Given the description of an element on the screen output the (x, y) to click on. 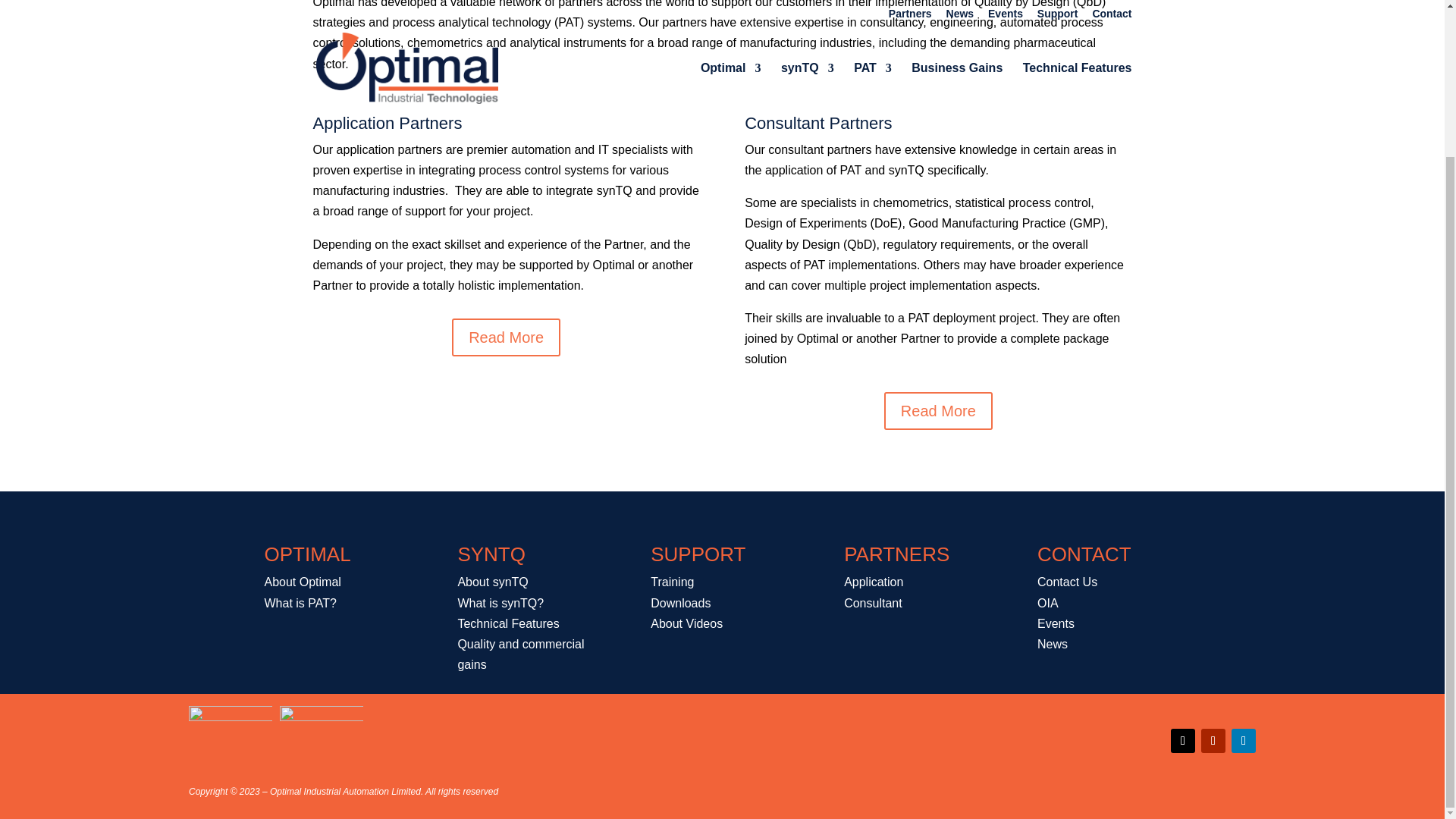
Consultant (873, 602)
Read More (505, 337)
Training (672, 581)
Application (873, 581)
Follow on LinkedIn (1243, 740)
Technical Features (508, 623)
About Videos (686, 623)
Read More (937, 410)
Downloads (680, 602)
Quality and commercial gains (520, 654)
Contact Us (1066, 581)
Follow on Youtube (1213, 740)
What is PAT? (299, 602)
About Optimal (301, 581)
What is synTQ? (500, 602)
